Given the description of an element on the screen output the (x, y) to click on. 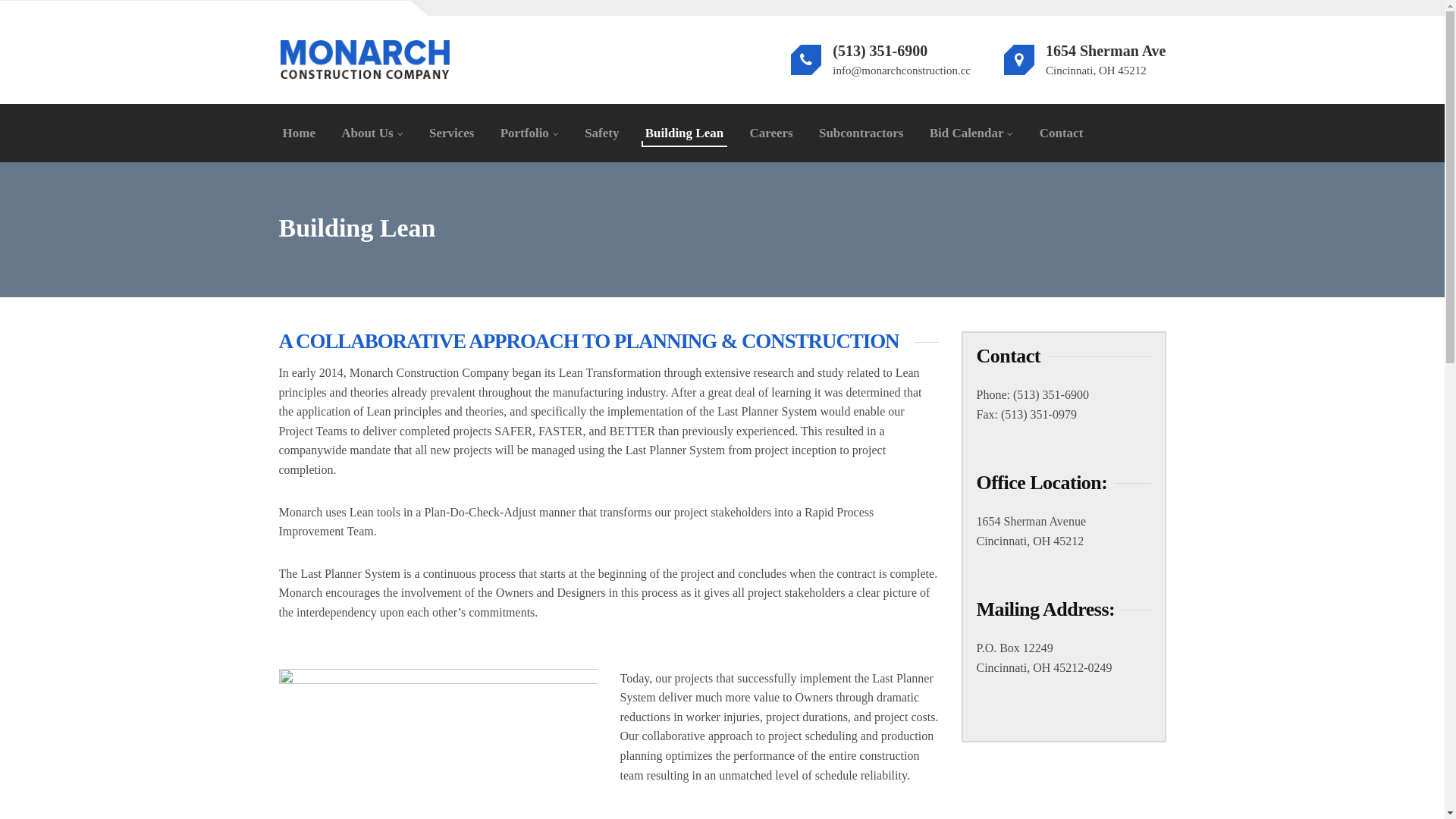
Safety Element type: text (601, 133)
Portfolio Element type: text (529, 133)
Building Lean Element type: text (684, 133)
Subcontractors Element type: text (860, 133)
Contact Element type: text (1061, 133)
About Us Element type: text (372, 133)
Bid Calendar Element type: text (971, 133)
Home Element type: text (299, 133)
Services Element type: text (451, 133)
Careers Element type: text (770, 133)
